Given the description of an element on the screen output the (x, y) to click on. 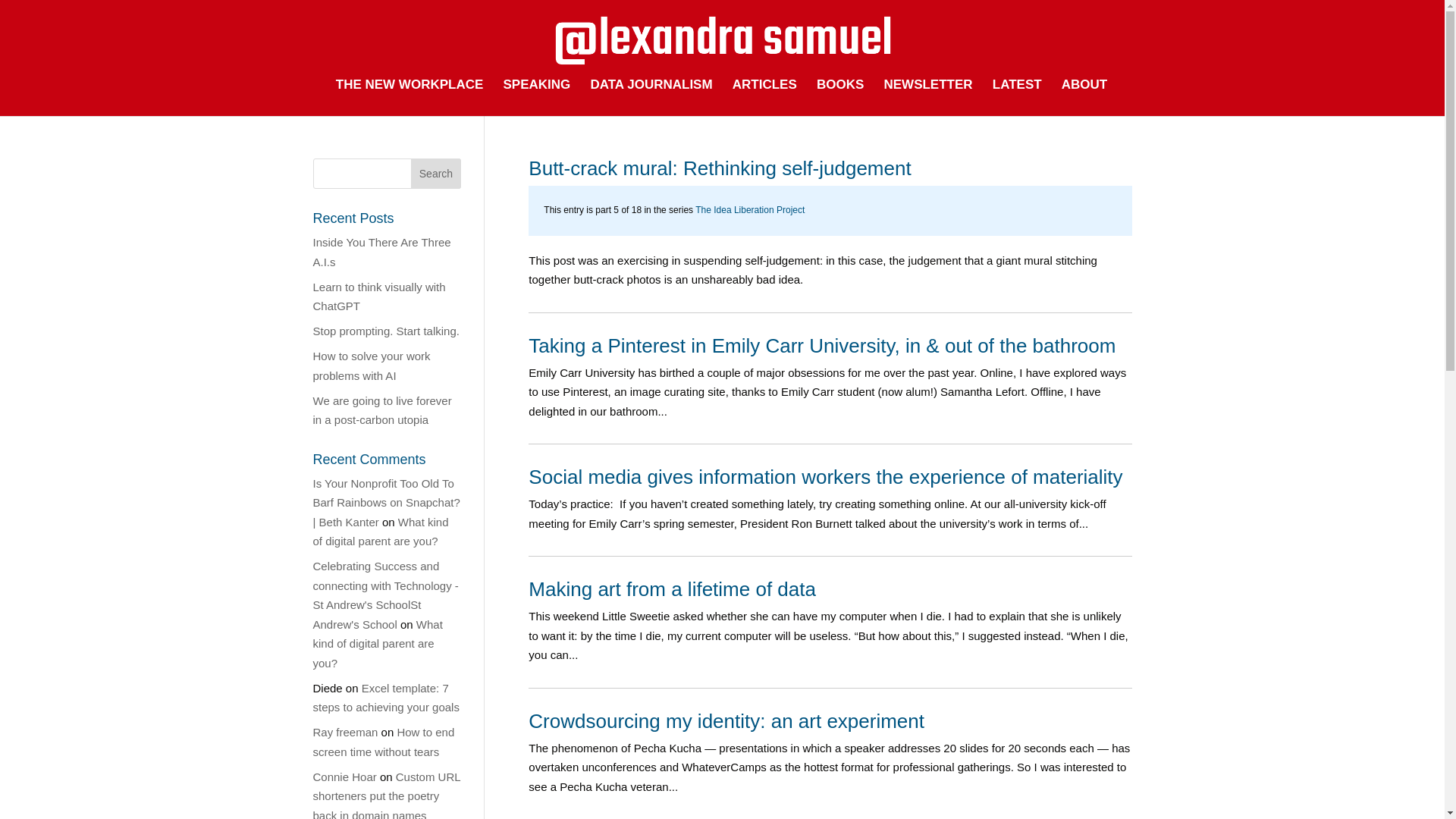
What kind of digital parent are you? (380, 531)
ARTICLES (764, 97)
Butt-crack mural: Rethinking self-judgement (719, 168)
The Idea Liberation Project (750, 209)
Excel template: 7 steps to achieving your goals (385, 696)
We are going to live forever in a post-carbon utopia (382, 409)
What kind of digital parent are you? (377, 643)
Stop prompting. Start talking. (385, 330)
Making art from a lifetime of data (671, 589)
BOOKS (839, 97)
ABOUT (1083, 97)
The Idea Liberation Project (750, 209)
THE NEW WORKPLACE (409, 97)
NEWSLETTER (927, 97)
Learn to think visually with ChatGPT (379, 296)
